Given the description of an element on the screen output the (x, y) to click on. 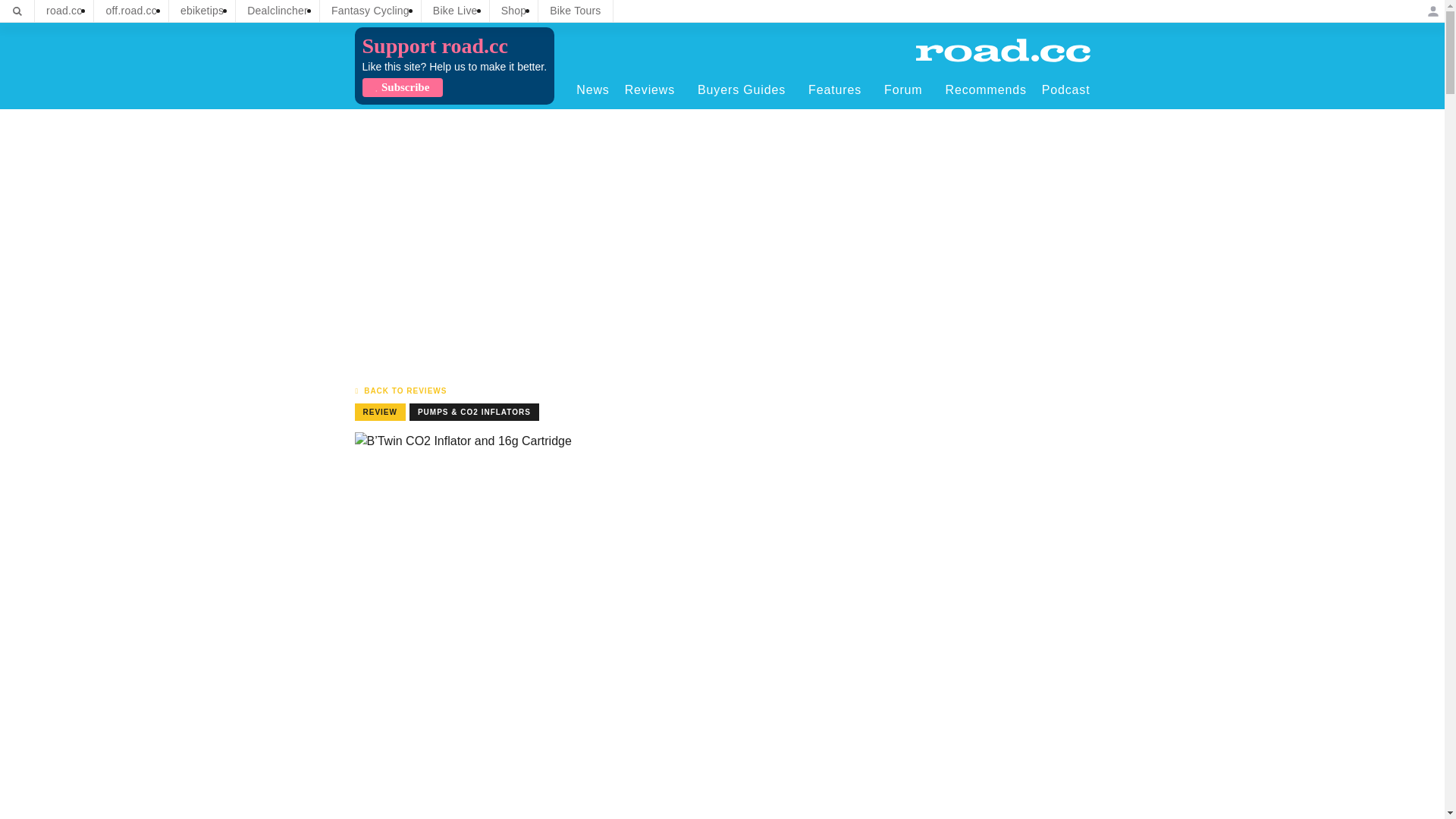
road.cc (63, 11)
Subscribe (402, 87)
Bike Live (455, 11)
Dealclincher (276, 11)
ebiketips (201, 11)
Bike Tours (574, 11)
Fantasy Cycling (370, 11)
Shop (513, 11)
Home (1002, 50)
Reviews (653, 89)
off.road.cc (131, 11)
